Given the description of an element on the screen output the (x, y) to click on. 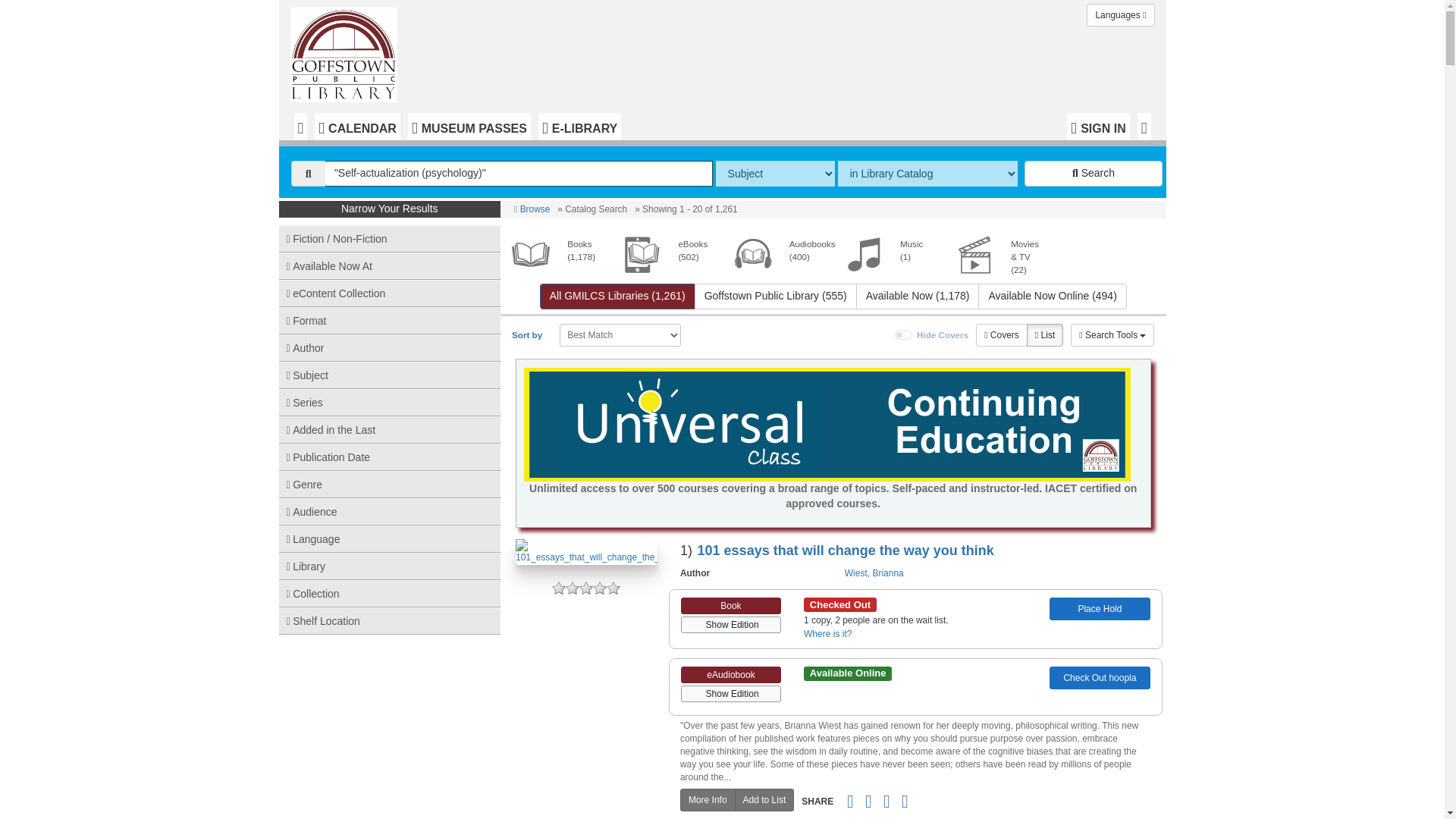
CALENDAR (357, 126)
Languages  (1120, 15)
on (903, 334)
Library Home Page (346, 51)
SIGN IN (1098, 126)
Login (1098, 126)
MUSEUM PASSES (469, 126)
E-LIBRARY (579, 126)
